Given the description of an element on the screen output the (x, y) to click on. 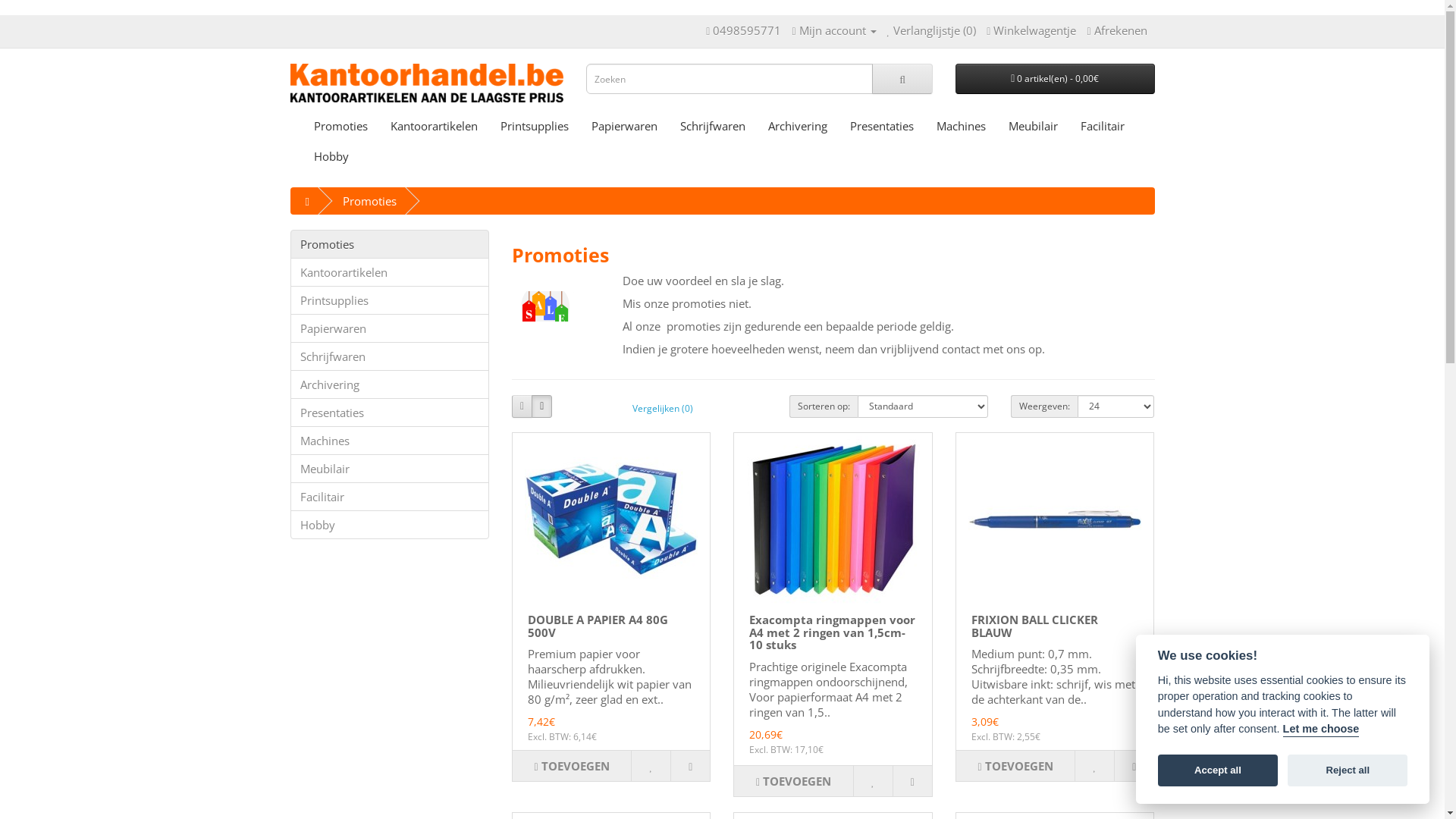
Kantoorartikelen Element type: text (434, 125)
Promoties Element type: text (369, 200)
Promoties Element type: text (389, 243)
FRIXION BALL CLICKER BLAUW Element type: text (1034, 625)
Let me choose Element type: text (1320, 730)
FRIXION BALL CLICKER BLAUW Element type: hover (1054, 519)
Presentaties Element type: text (389, 412)
Meubilair Element type: text (1032, 125)
DOUBLE A PAPIER A4 80G 500V Element type: hover (610, 519)
Kantoorartikelen Element type: text (389, 271)
Facilitair Element type: text (1102, 125)
Presentaties Element type: text (881, 125)
Vergelijken (0) Element type: text (662, 407)
Printsupplies Element type: text (533, 125)
Promoties Element type: text (339, 125)
Promoties Element type: hover (544, 306)
Archivering Element type: text (389, 384)
Winkelwagentje Element type: text (1031, 29)
Meubilair Element type: text (389, 468)
Schrijfwaren Element type: text (389, 356)
Reject all Element type: text (1347, 771)
Afrekenen Element type: text (1116, 29)
Hobby Element type: text (389, 524)
Printsupplies Element type: text (389, 299)
Schrijfwaren Element type: text (712, 125)
Papierwaren Element type: text (389, 327)
TOEVOEGEN Element type: text (571, 765)
Papierwaren Element type: text (623, 125)
Archivering Element type: text (797, 125)
Machines Element type: text (389, 440)
Verlanglijstje (0) Element type: text (931, 29)
Facilitair Element type: text (389, 496)
DOUBLE A PAPIER A4 80G 500V Element type: text (597, 625)
Accept all Element type: text (1217, 771)
Mijn account Element type: text (833, 29)
TOEVOEGEN Element type: text (793, 780)
TOEVOEGEN Element type: text (1015, 765)
Machines Element type: text (961, 125)
Hobby Element type: text (330, 156)
